Given the description of an element on the screen output the (x, y) to click on. 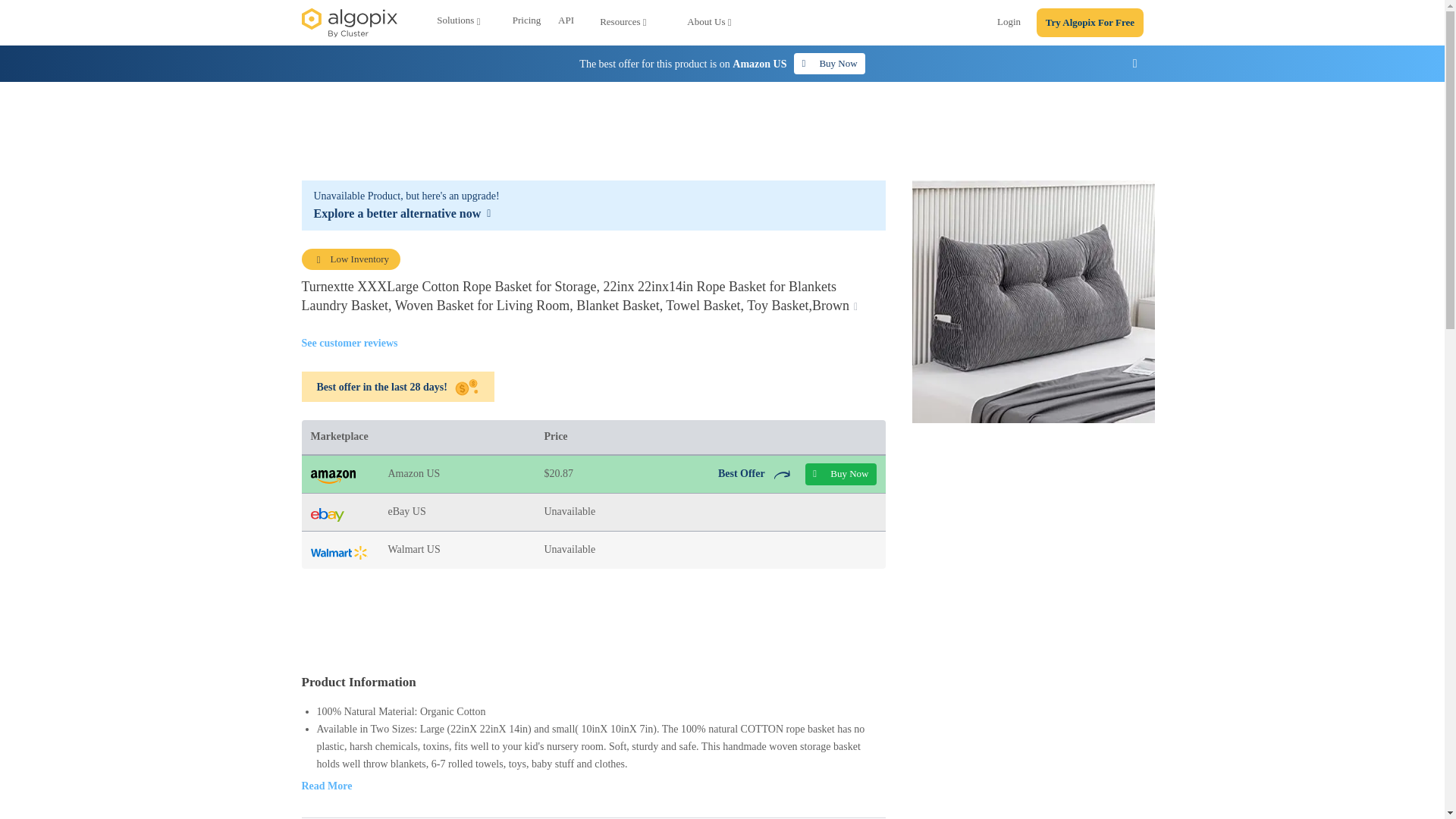
See customer reviews (349, 342)
Try Algopix For Free (1089, 22)
Buy Now (828, 64)
Buy Now (840, 474)
Login (1008, 24)
Pricing (525, 22)
API (566, 22)
